Given the description of an element on the screen output the (x, y) to click on. 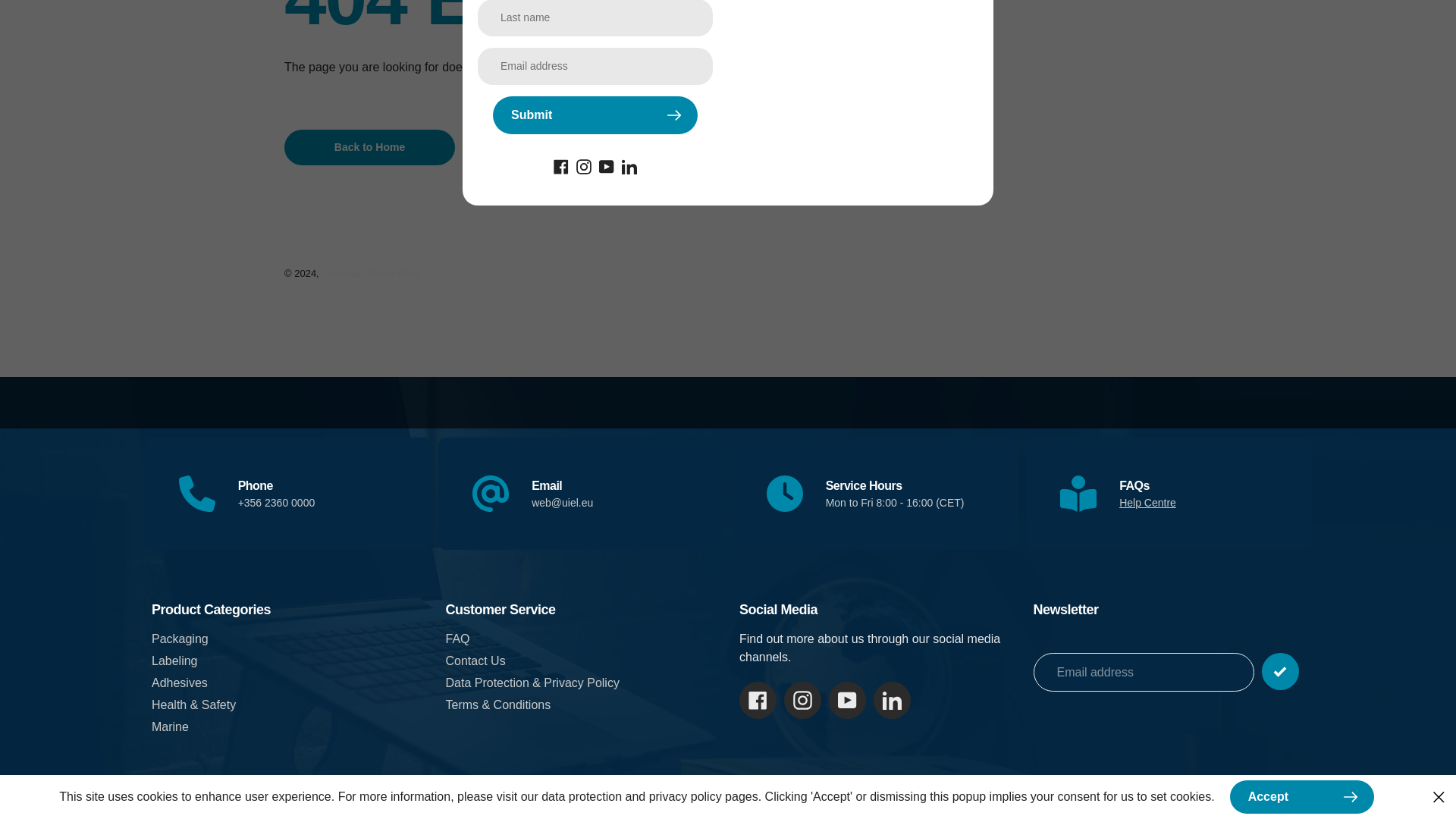
Facebook (561, 164)
Twitter (629, 164)
YouTube (606, 164)
Instagram (583, 164)
